Given the description of an element on the screen output the (x, y) to click on. 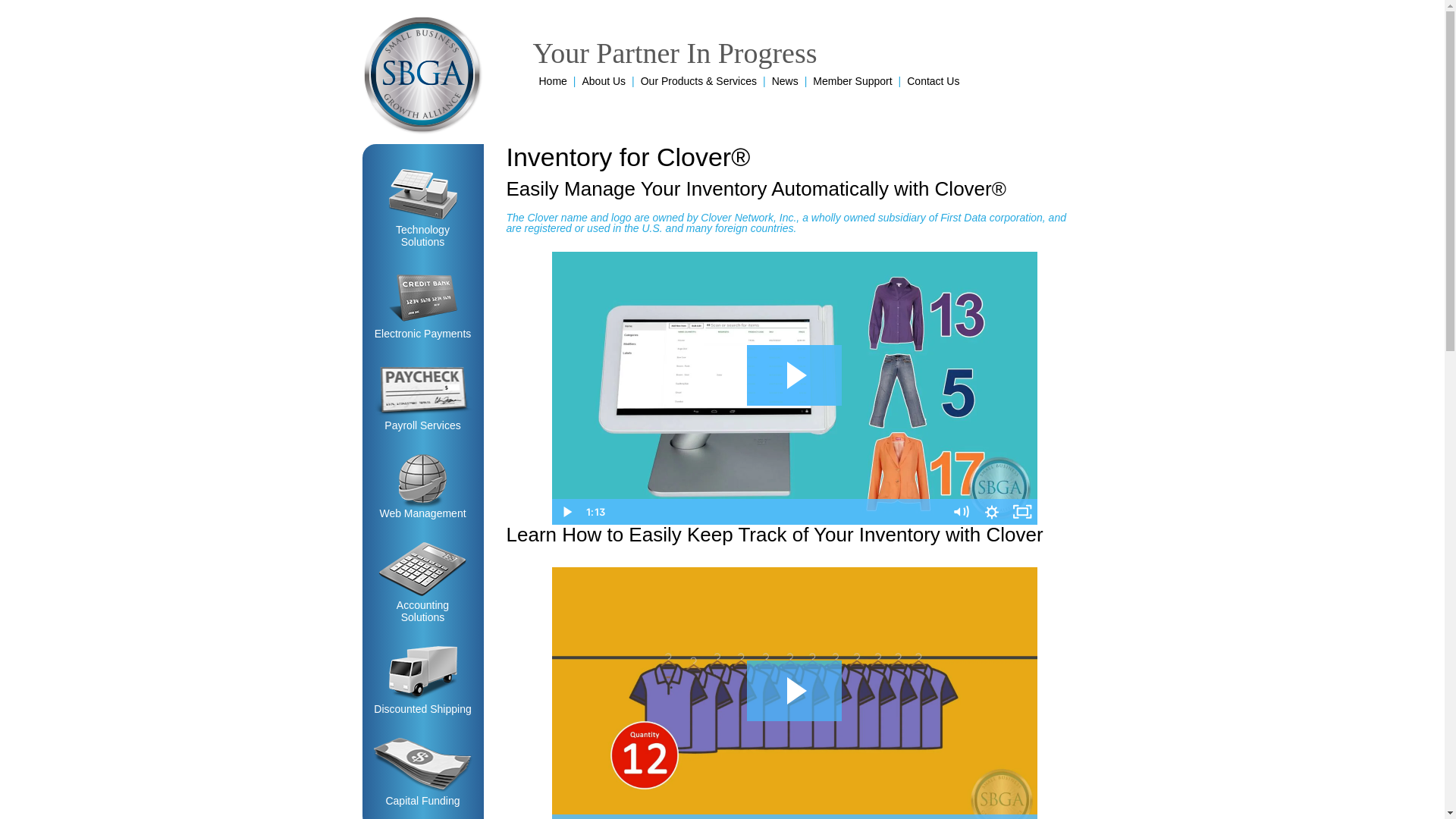
Show settings menu (991, 511)
SBGA: Your Partner In Progress (422, 75)
Show settings menu (991, 816)
Web Management (421, 486)
Technology Solutions (421, 207)
Home (552, 87)
Contact Us (928, 87)
Accounting Solutions (421, 582)
Member Support (848, 87)
About Us (599, 87)
Electronic Payments (421, 305)
News (779, 87)
Payroll Services (421, 396)
Capital Funding (421, 771)
SBGA: Your Partner In Progress (422, 75)
